Given the description of an element on the screen output the (x, y) to click on. 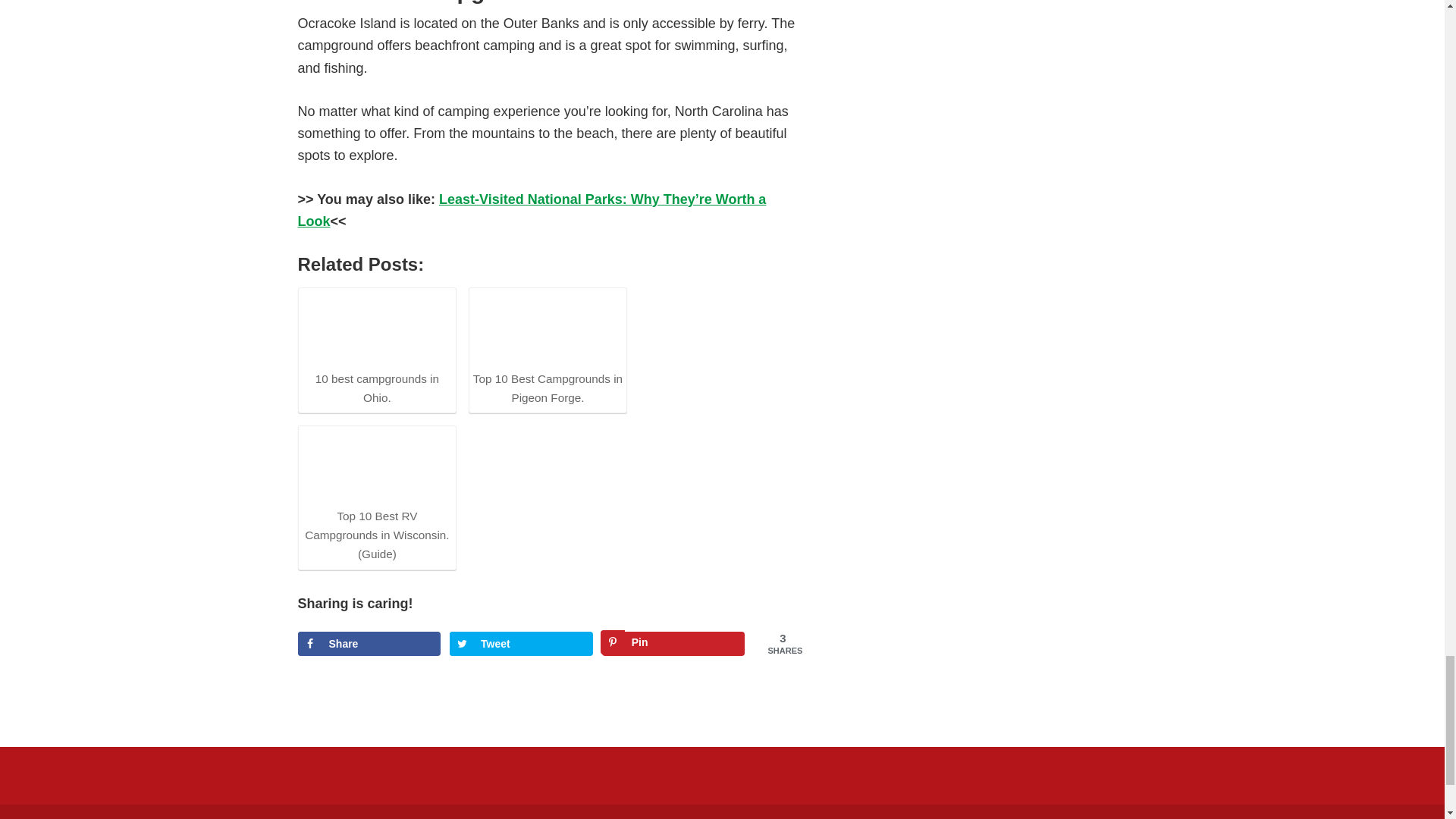
Top 10 Best Campgrounds in Pigeon Forge. (547, 348)
10 best campgrounds in Ohio. (375, 348)
Tweet (520, 643)
10 best campgrounds in Ohio. (375, 328)
Share (369, 643)
Pin (673, 643)
